Given the description of an element on the screen output the (x, y) to click on. 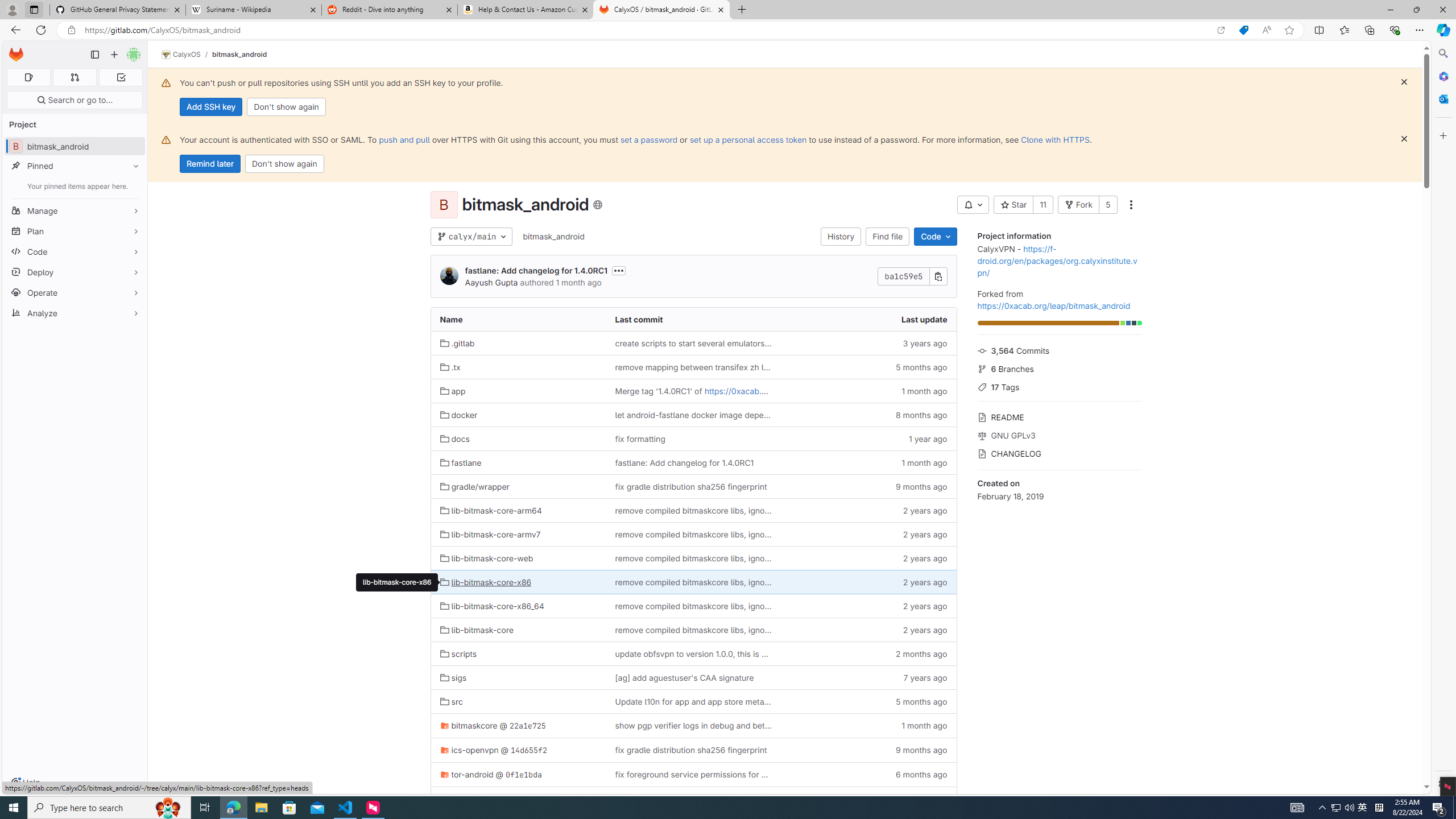
Aayush Gupta's avatar (448, 275)
6 months ago (868, 774)
17 Tags (1058, 385)
docs (454, 438)
Class: s16 icon (597, 204)
5 months ago (868, 701)
fix foreground service permissions for Android API 34 (693, 774)
https://0xacab.org/leap/bitmask_android (780, 390)
Microsoft 365 (1442, 76)
push and pull (403, 139)
fastlane (517, 462)
ignore ruby vendor directory, needed for fastlane (693, 798)
